Given the description of an element on the screen output the (x, y) to click on. 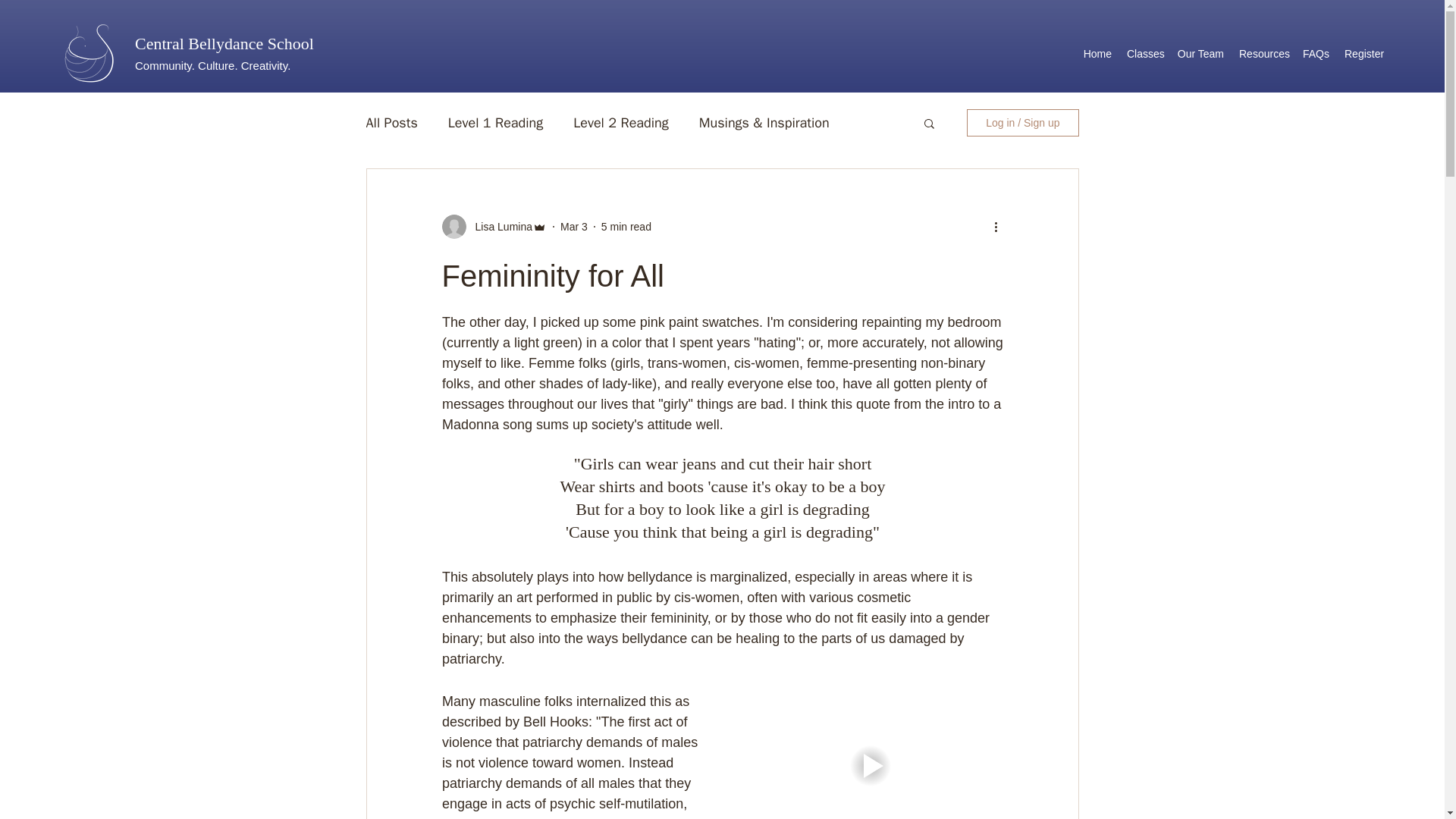
Lisa Lumina (498, 226)
Home (1097, 53)
Central Bellydance School (224, 43)
Mar 3 (574, 225)
Level 2 Reading (620, 122)
5 min read (625, 225)
Level 1 Reading (495, 122)
Register (1363, 53)
All Posts (390, 122)
